Given the description of an element on the screen output the (x, y) to click on. 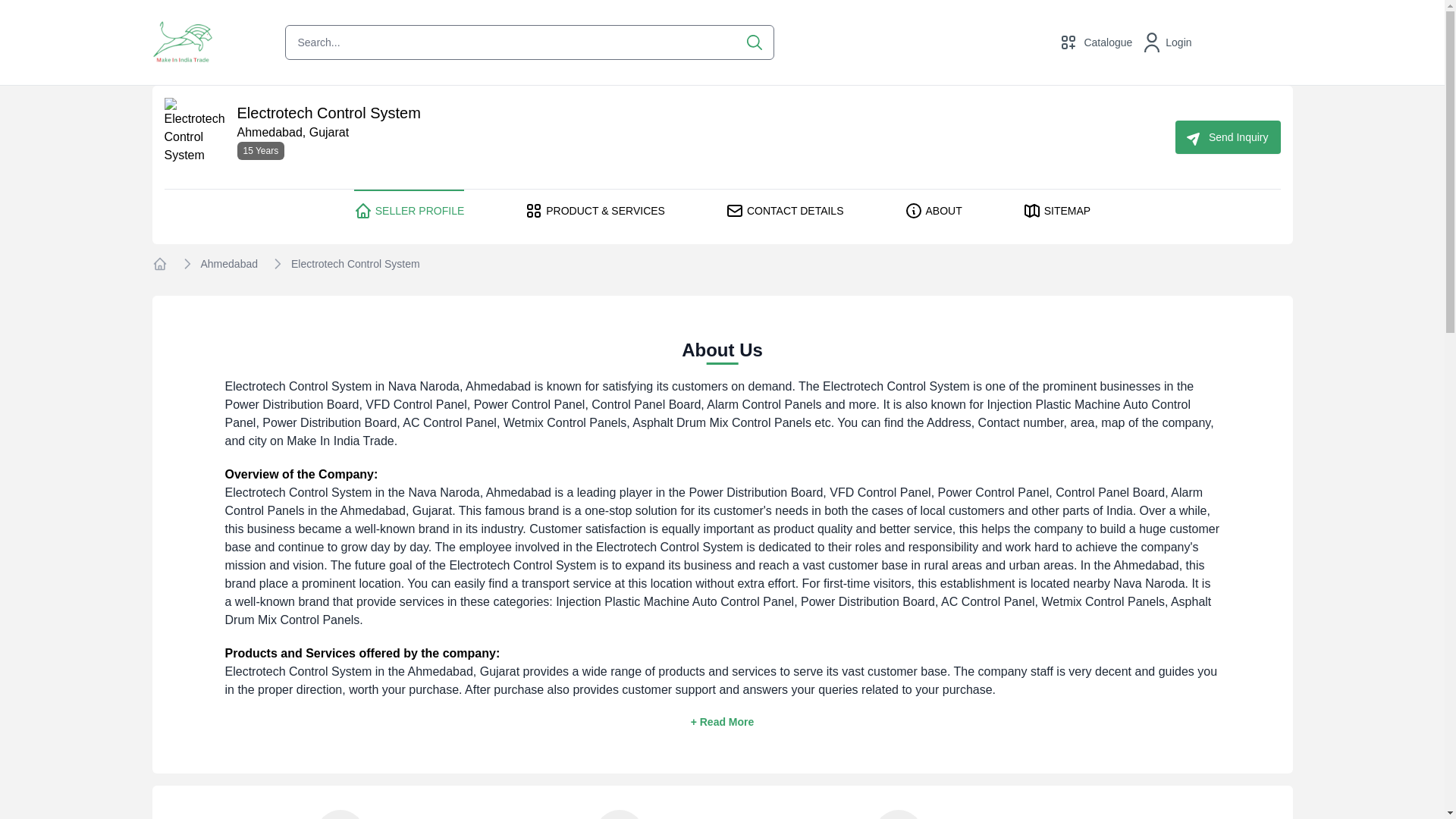
Ahmedabad (228, 263)
SITEMAP (1056, 210)
Send Inquiry (1227, 136)
CONTACT DETAILS (784, 210)
Catalogue (1095, 42)
Electrotech Control System (355, 263)
ABOUT (932, 210)
SELLER PROFILE (408, 210)
Home (159, 263)
Login (1167, 42)
